Given the description of an element on the screen output the (x, y) to click on. 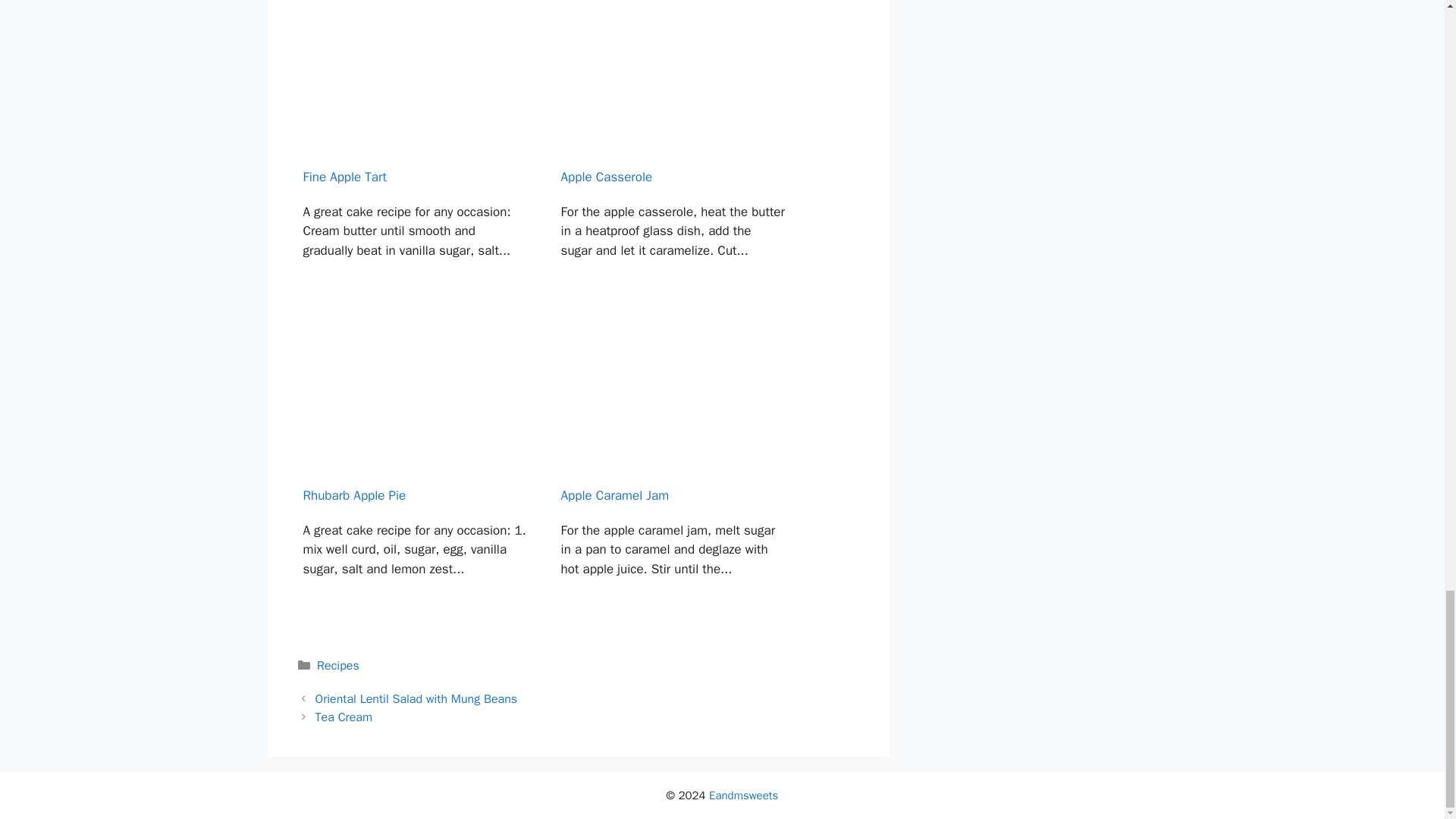
Recipes (338, 665)
Tea Cream (343, 717)
Oriental Lentil Salad with Mung Beans (415, 698)
